Given the description of an element on the screen output the (x, y) to click on. 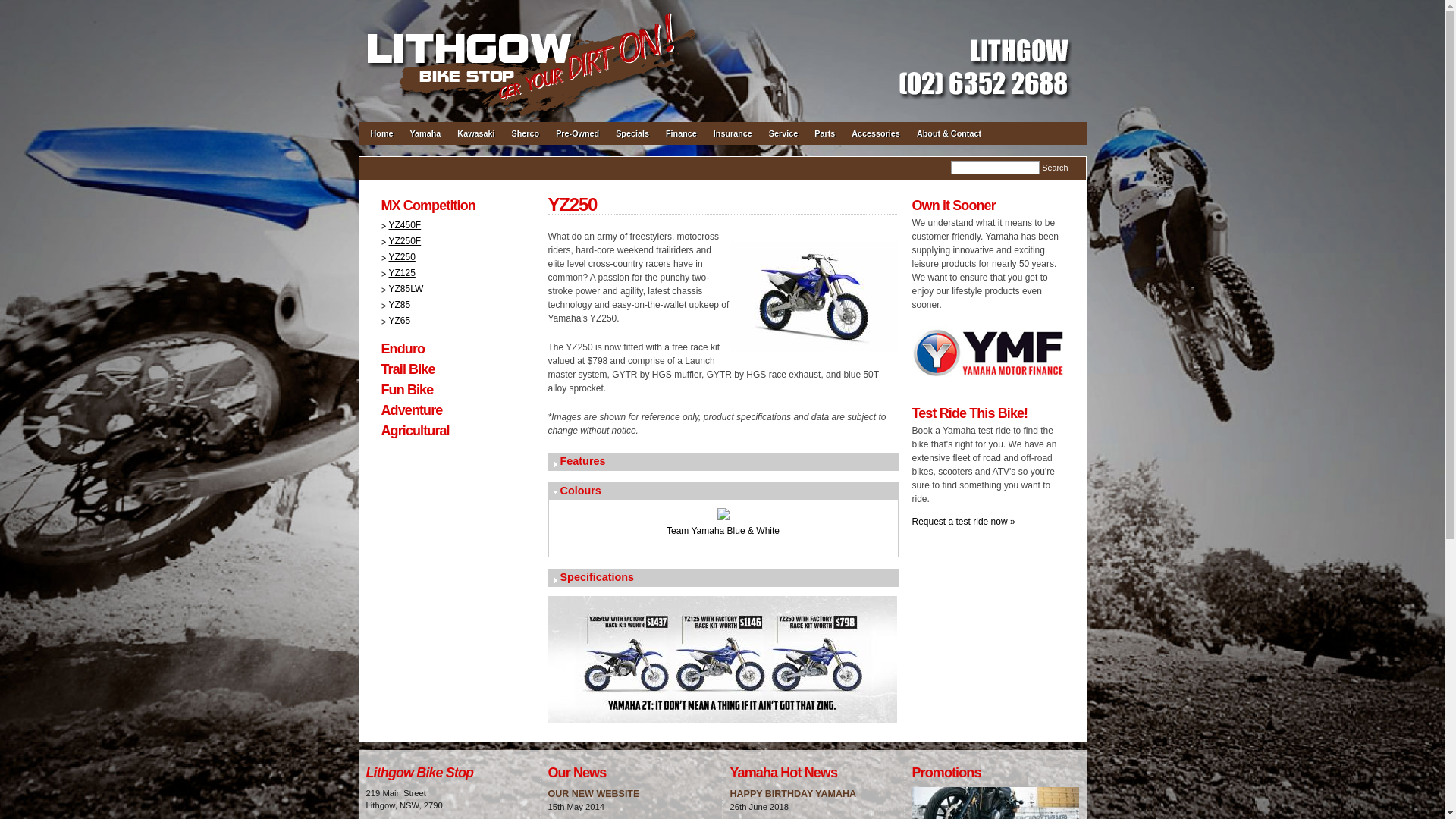
Home Element type: text (381, 139)
Parts Element type: text (824, 139)
Features Element type: text (723, 461)
Fun Bike Element type: text (406, 389)
YZ85 Element type: text (395, 304)
Adventure Element type: text (411, 409)
YZ65 Element type: text (395, 320)
Specifications Element type: text (723, 577)
Accessories Element type: text (875, 139)
Enduro Element type: text (402, 348)
YZ85LW Element type: text (401, 288)
Finance Element type: text (681, 139)
Yamaha Motor Finance Element type: hover (987, 381)
Team Yamaha Blue & White Element type: text (722, 530)
Yamaha YZ250 in Team Yamaha Blue & White Element type: hover (723, 516)
OUR NEW WEBSITE Element type: text (593, 793)
Search Element type: text (1054, 167)
Sherco Element type: text (525, 139)
YZ250 Element type: text (397, 256)
Colours Element type: text (723, 491)
About & Contact Element type: text (948, 139)
YZ125 Element type: text (397, 272)
Yamaha Hot News Element type: text (783, 772)
HAPPY BIRTHDAY YAMAHA Element type: text (792, 793)
Lithgow Bike Stop Element type: text (419, 772)
YZ450F Element type: text (400, 224)
YZ250F Element type: text (400, 240)
Specials Element type: text (632, 139)
Our News Element type: text (576, 772)
Insurance Element type: text (732, 139)
MX Competition Element type: text (427, 205)
Yamaha Element type: text (425, 139)
Kawasaki Element type: text (475, 139)
Home Element type: hover (532, 6)
Service Element type: text (783, 139)
Promotions Element type: text (945, 772)
Agricultural Element type: text (414, 430)
Pre-Owned Element type: text (577, 139)
Trail Bike Element type: text (407, 368)
